Given the description of an element on the screen output the (x, y) to click on. 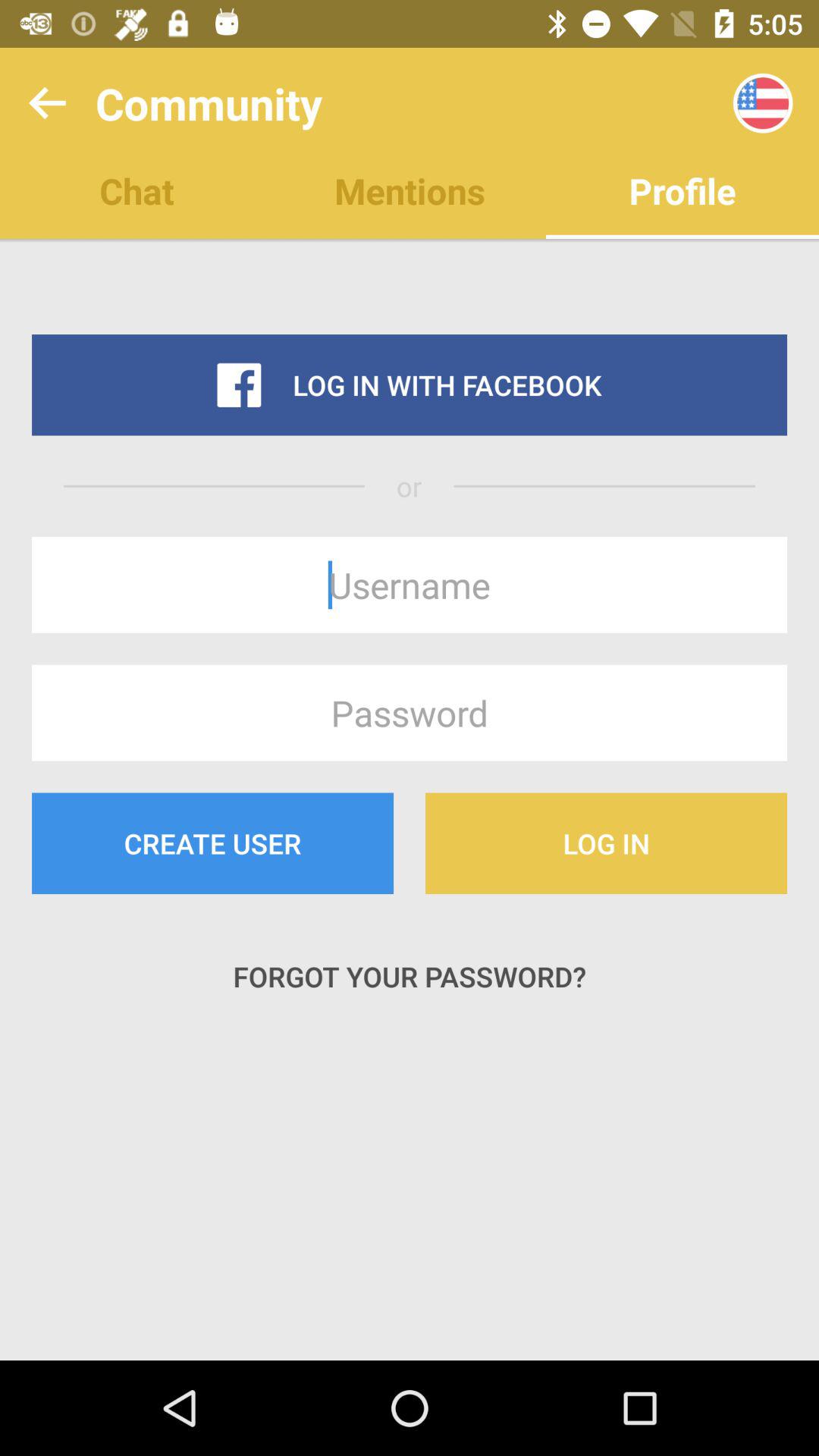
password text box (409, 712)
